Given the description of an element on the screen output the (x, y) to click on. 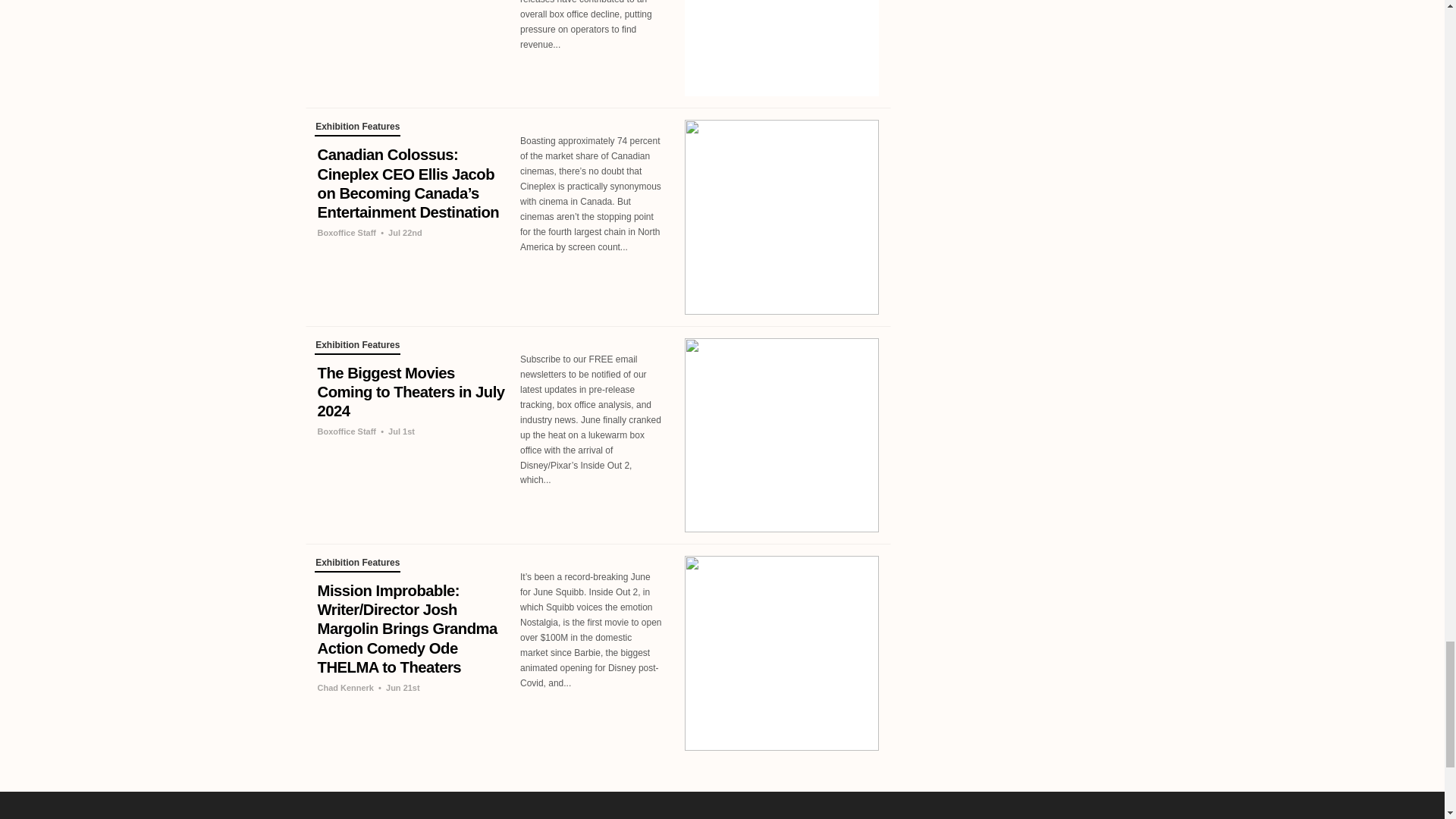
Exhibition Features (357, 128)
Exhibition Features (357, 564)
Exhibition Features (357, 346)
